Given the description of an element on the screen output the (x, y) to click on. 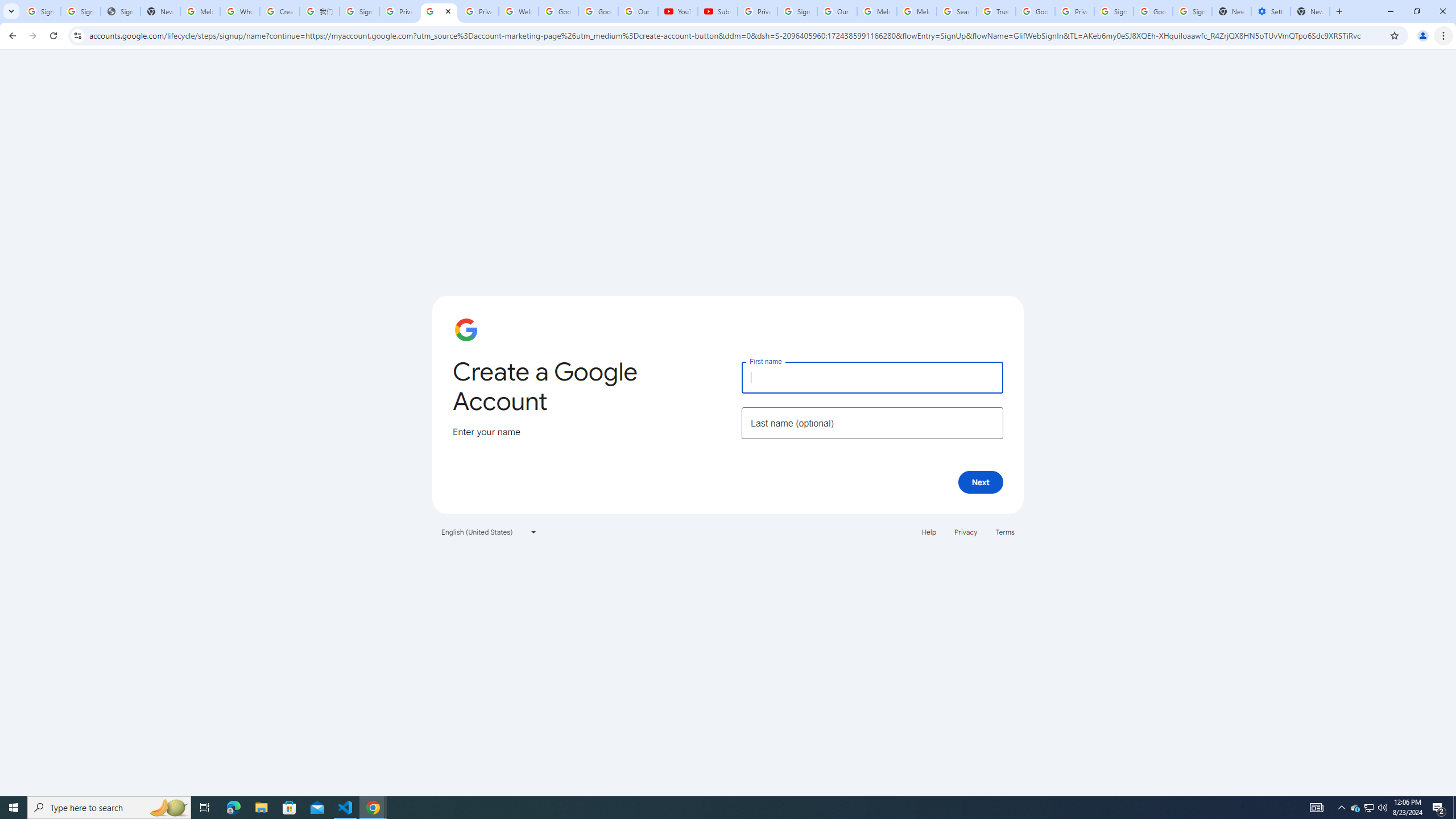
Who is my administrator? - Google Account Help (239, 11)
English (United States) (489, 531)
Create your Google Account (438, 11)
Sign in - Google Accounts (796, 11)
Next (980, 481)
Google Account (598, 11)
Last name (optional) (871, 422)
